Given the description of an element on the screen output the (x, y) to click on. 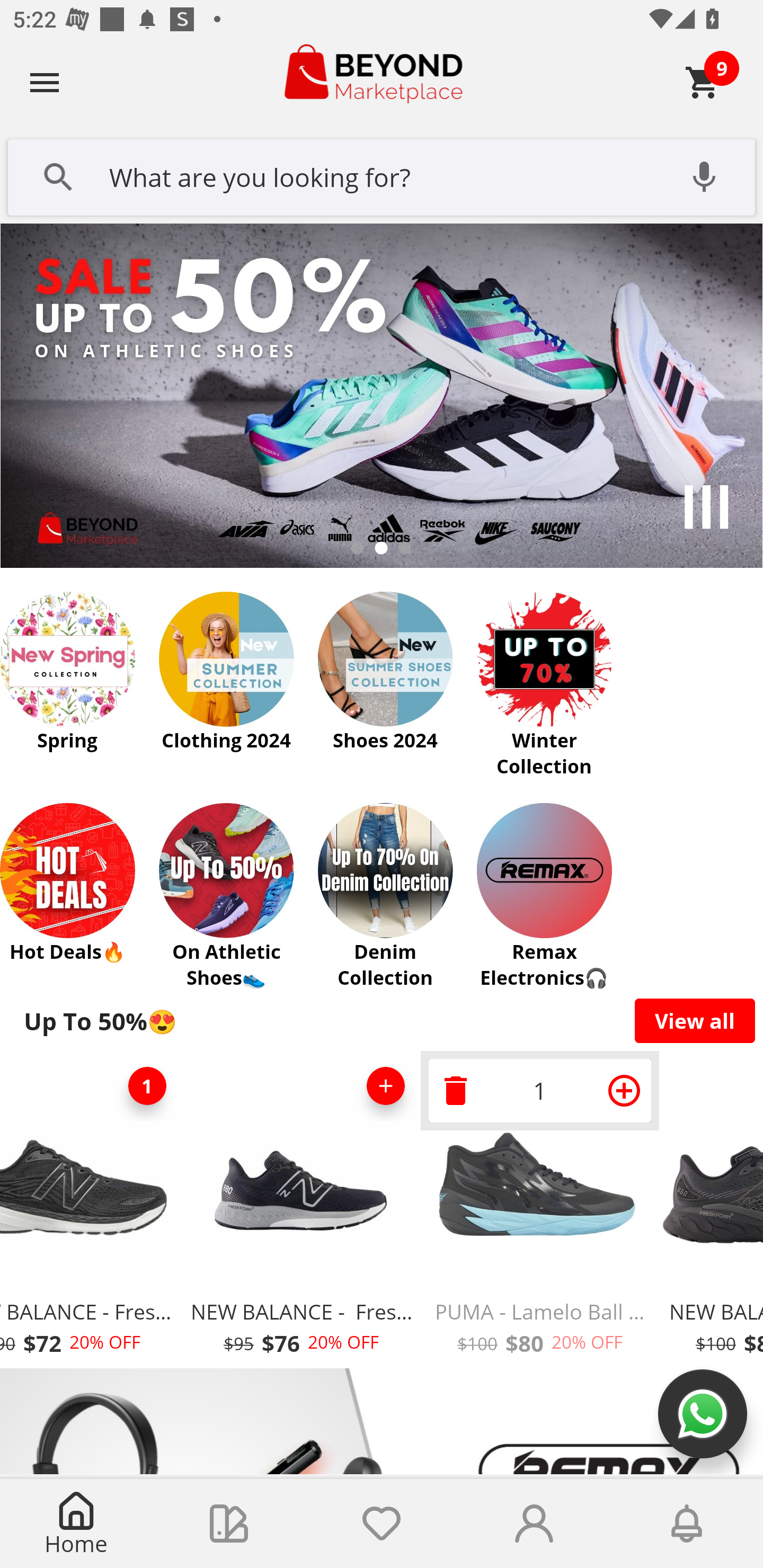
Navigate up (44, 82)
What are you looking for? (381, 175)
View all (694, 1020)
1 (147, 1085)
NEW BALANCE -  Fresh Foam X 880 $95 $76 20% OFF (301, 1209)
1 PUMA - Lamelo Ball MB.02 Phenom $100 $80 20% OFF (539, 1209)
1 (539, 1090)
Collections (228, 1523)
Wishlist (381, 1523)
Account (533, 1523)
Notifications (686, 1523)
